Given the description of an element on the screen output the (x, y) to click on. 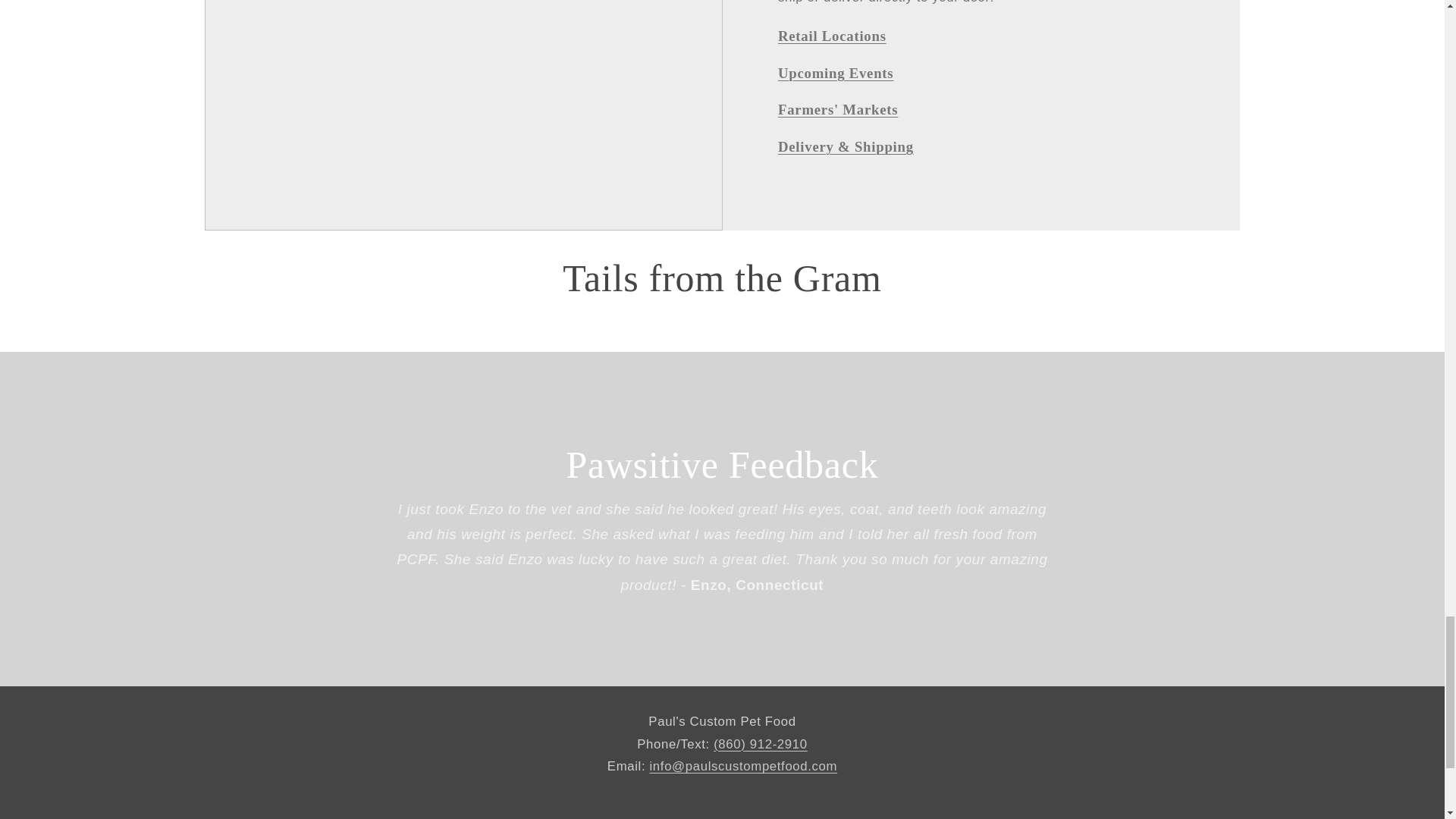
Retail Locations (831, 35)
Delivery and Shipping (845, 146)
Upcoming Events (835, 73)
Farmers' Markets (837, 109)
